Given the description of an element on the screen output the (x, y) to click on. 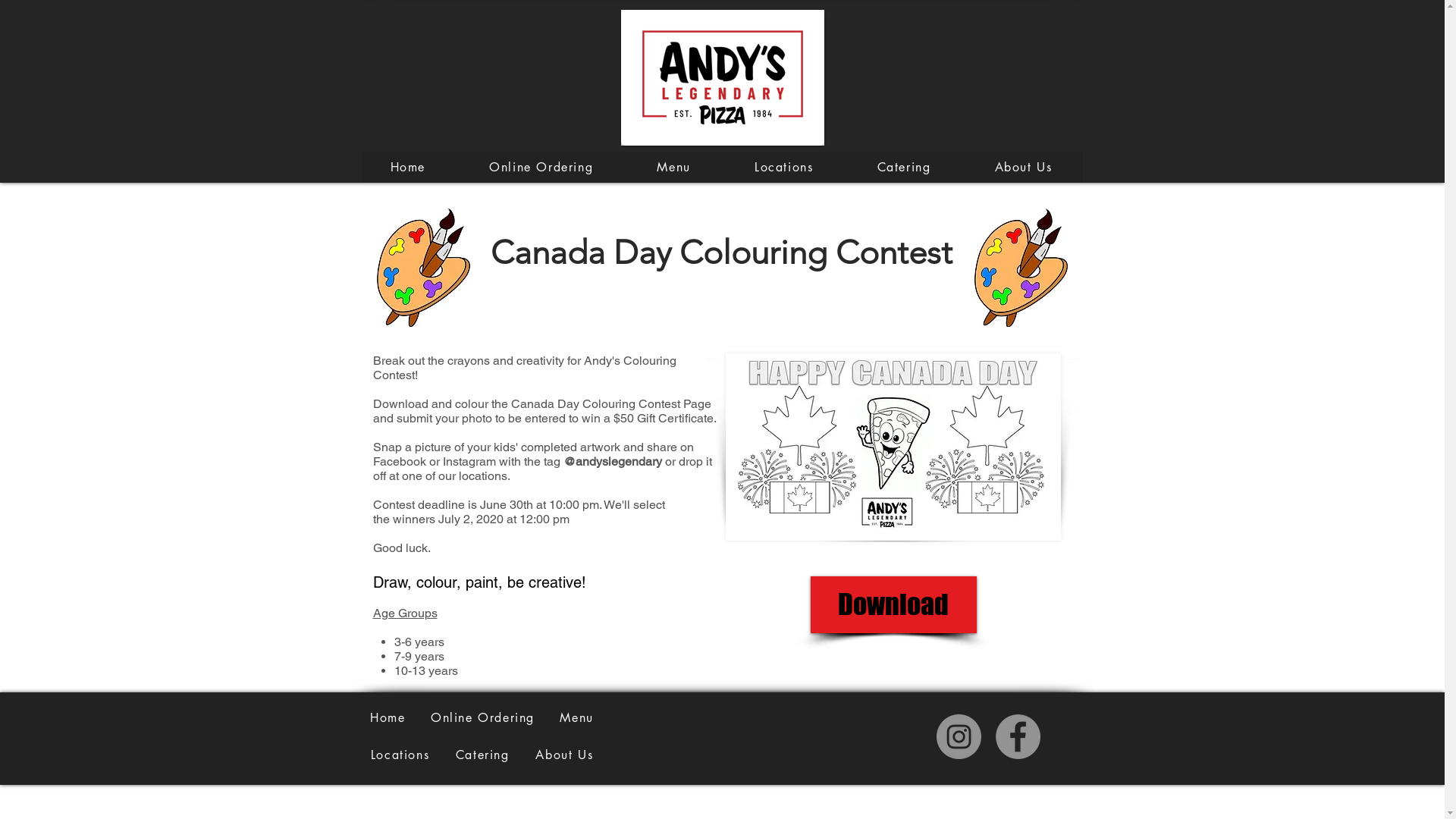
Menu Element type: text (576, 717)
Catering Element type: text (903, 166)
Menu Element type: text (673, 166)
Online Ordering Element type: text (481, 717)
Locations Element type: text (783, 166)
Online Ordering Element type: text (540, 166)
Catering Element type: text (482, 754)
About Us Element type: text (1022, 166)
About Us Element type: text (563, 754)
Home Element type: text (407, 166)
Download Element type: text (892, 604)
Home Element type: text (387, 717)
Locations Element type: text (399, 754)
